Given the description of an element on the screen output the (x, y) to click on. 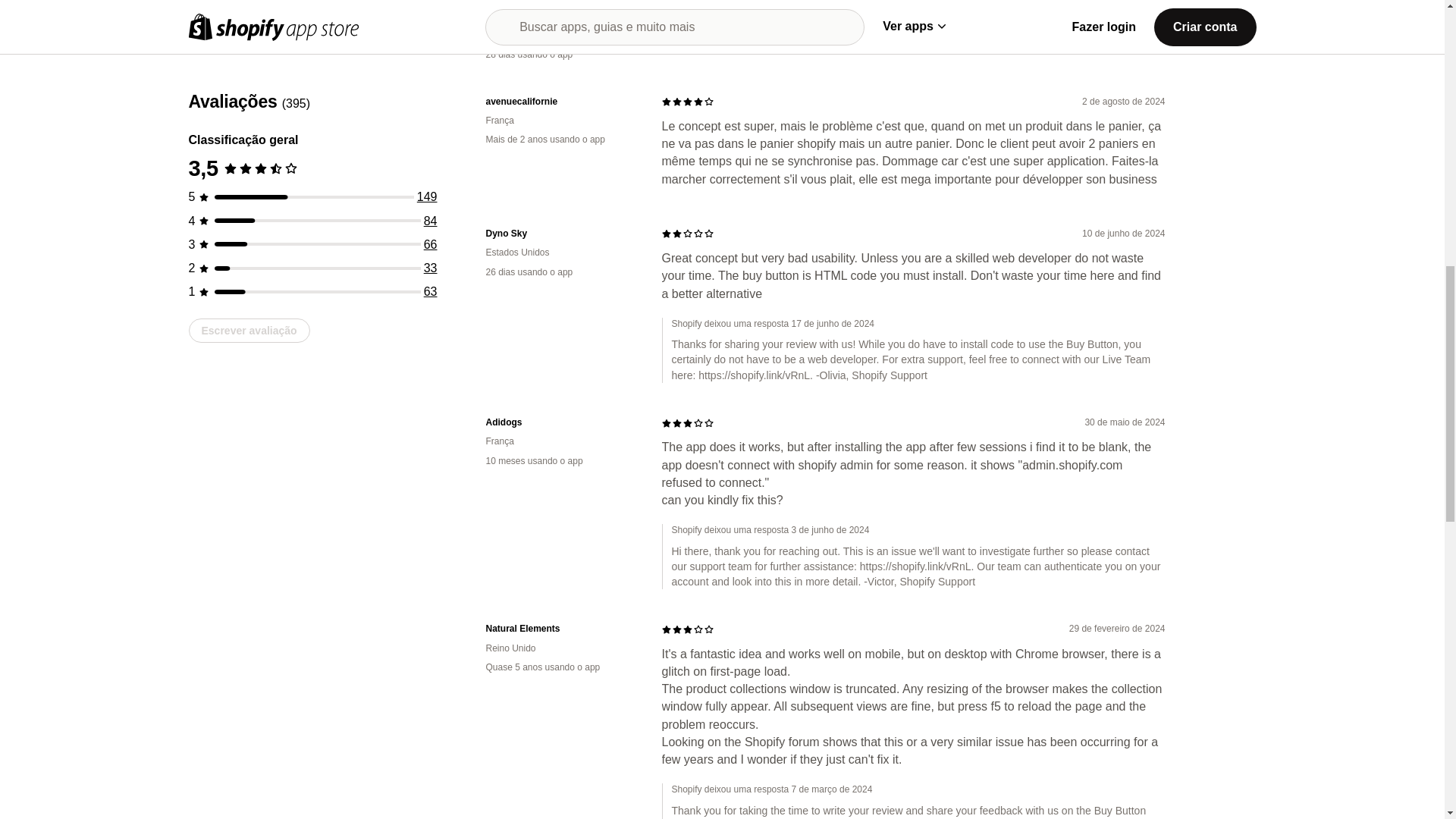
Dyno Sky (560, 233)
avenuecalifornie (560, 101)
Adidogs (560, 422)
Natural Elements  (560, 628)
